Given the description of an element on the screen output the (x, y) to click on. 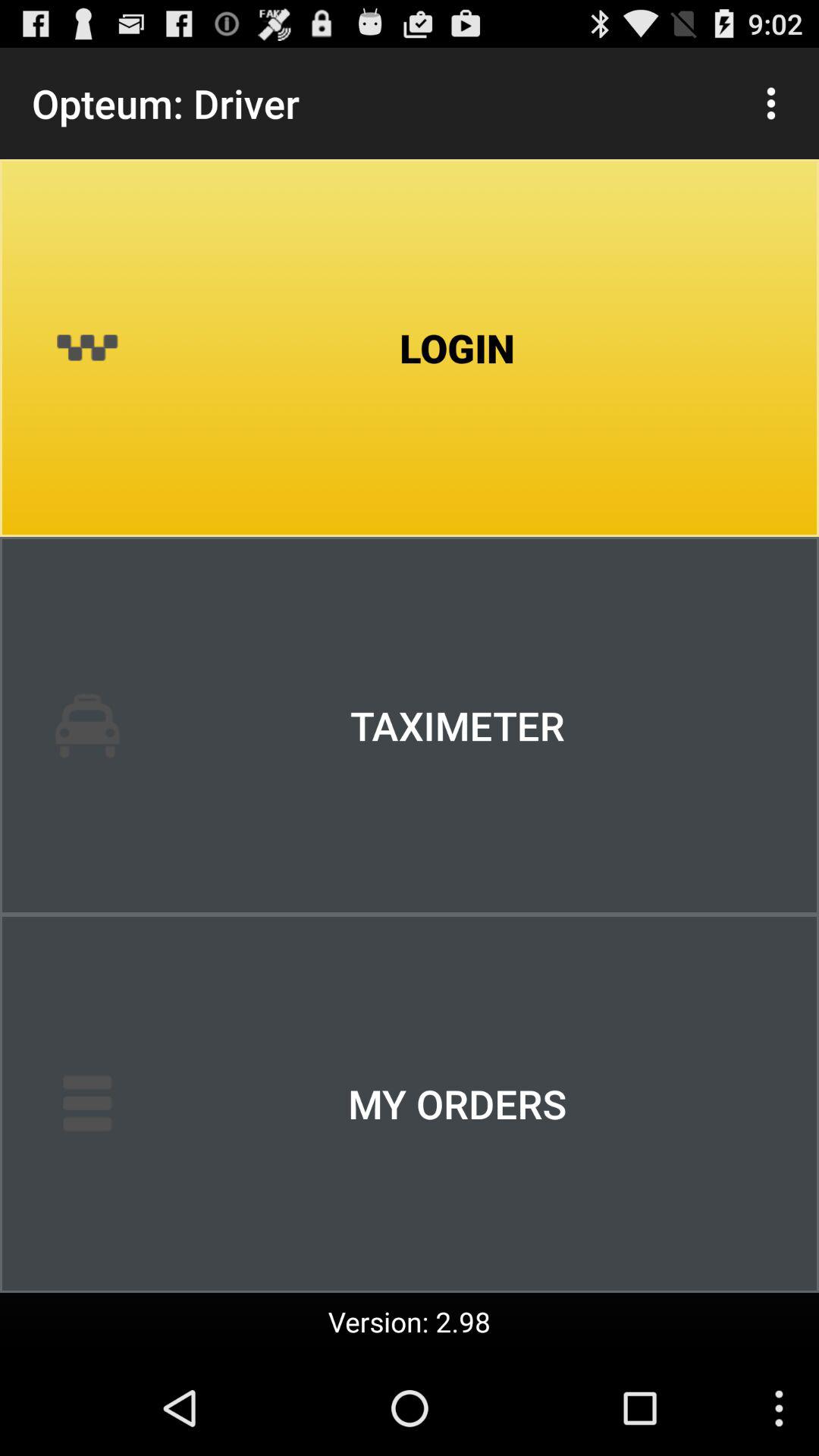
click the item at the top right corner (771, 103)
